Given the description of an element on the screen output the (x, y) to click on. 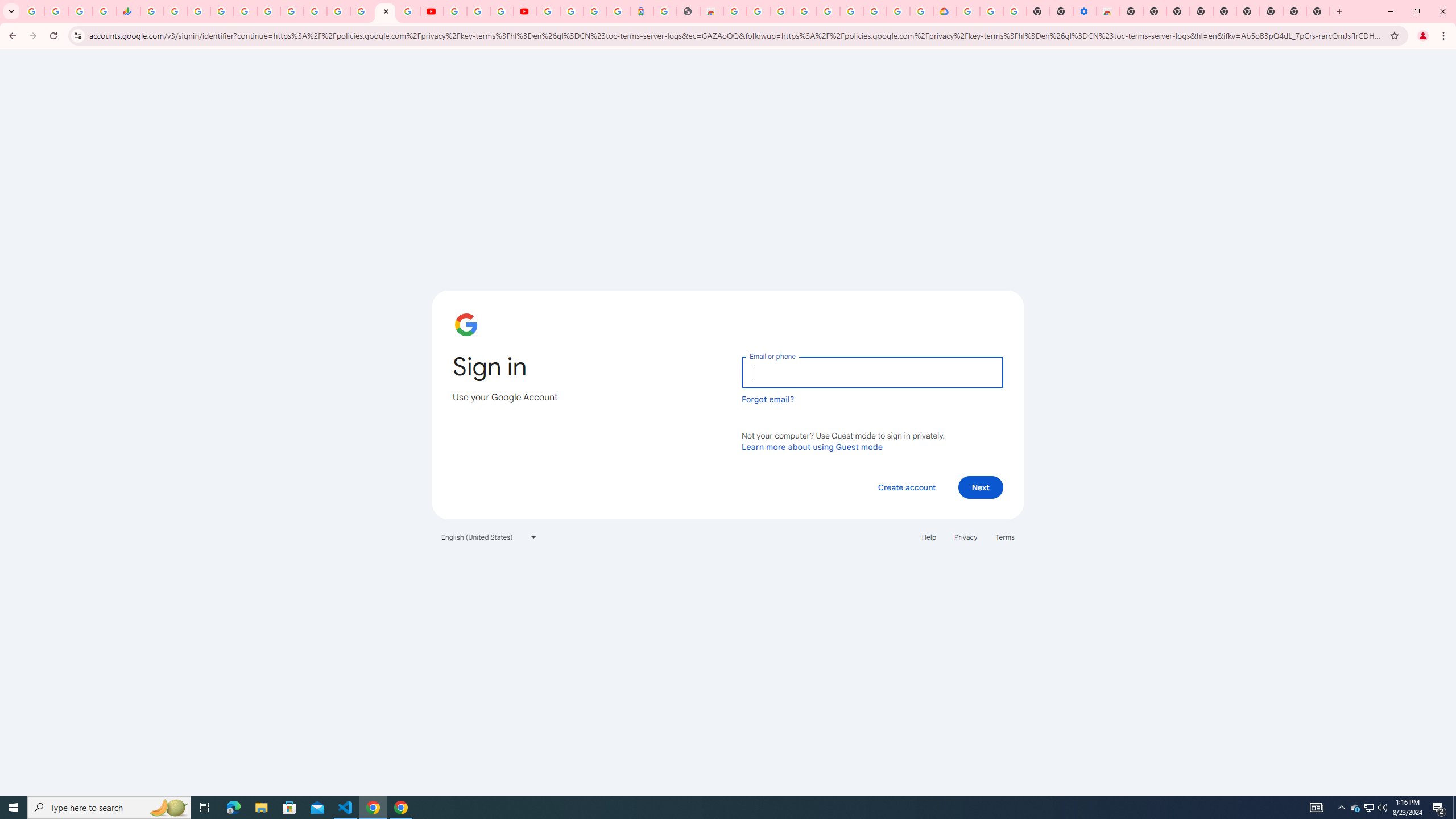
Google Account Help (992, 11)
English (United States) (489, 536)
Forgot email? (767, 398)
Chrome Web Store - Household (711, 11)
Atour Hotel - Google hotels (641, 11)
Privacy Checkup (408, 11)
Chrome Web Store - Accessibility extensions (1108, 11)
Google Workspace Admin Community (32, 11)
Privacy (965, 536)
Email or phone (871, 372)
Terms (1005, 536)
Sign in - Google Accounts (547, 11)
